Given the description of an element on the screen output the (x, y) to click on. 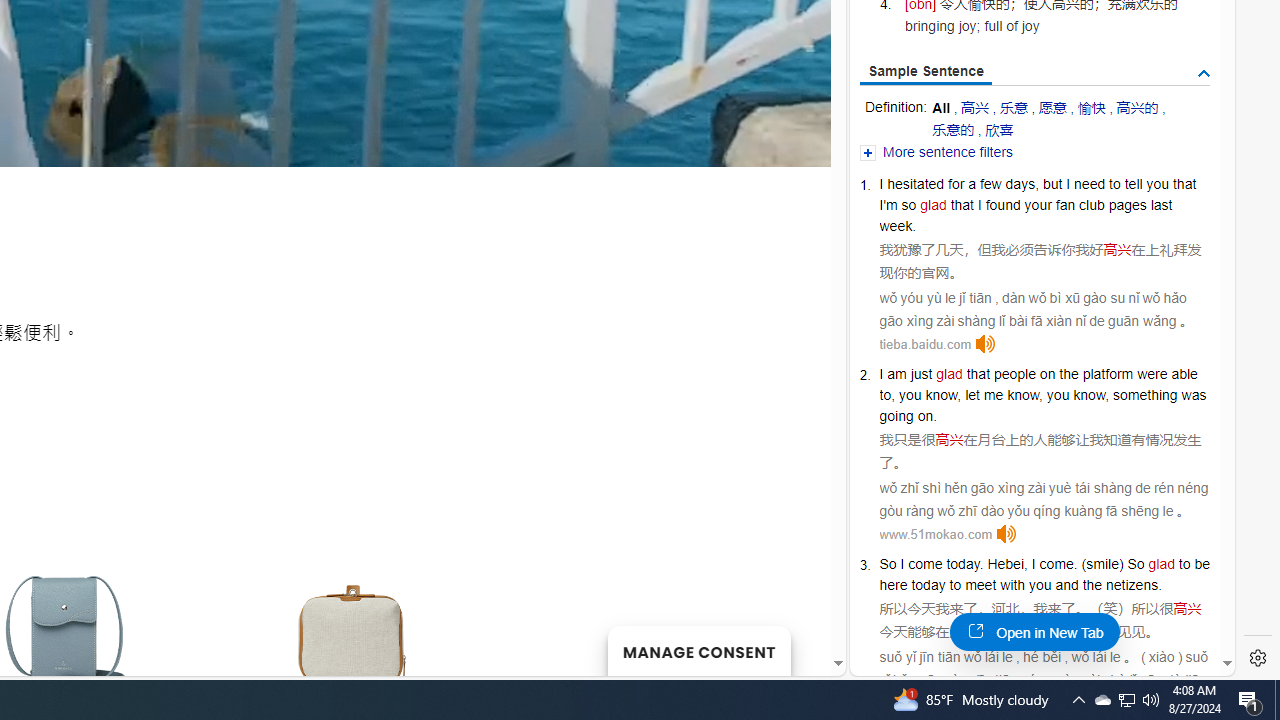
today (928, 584)
I (1032, 563)
you (1039, 584)
( (1083, 563)
